Given the description of an element on the screen output the (x, y) to click on. 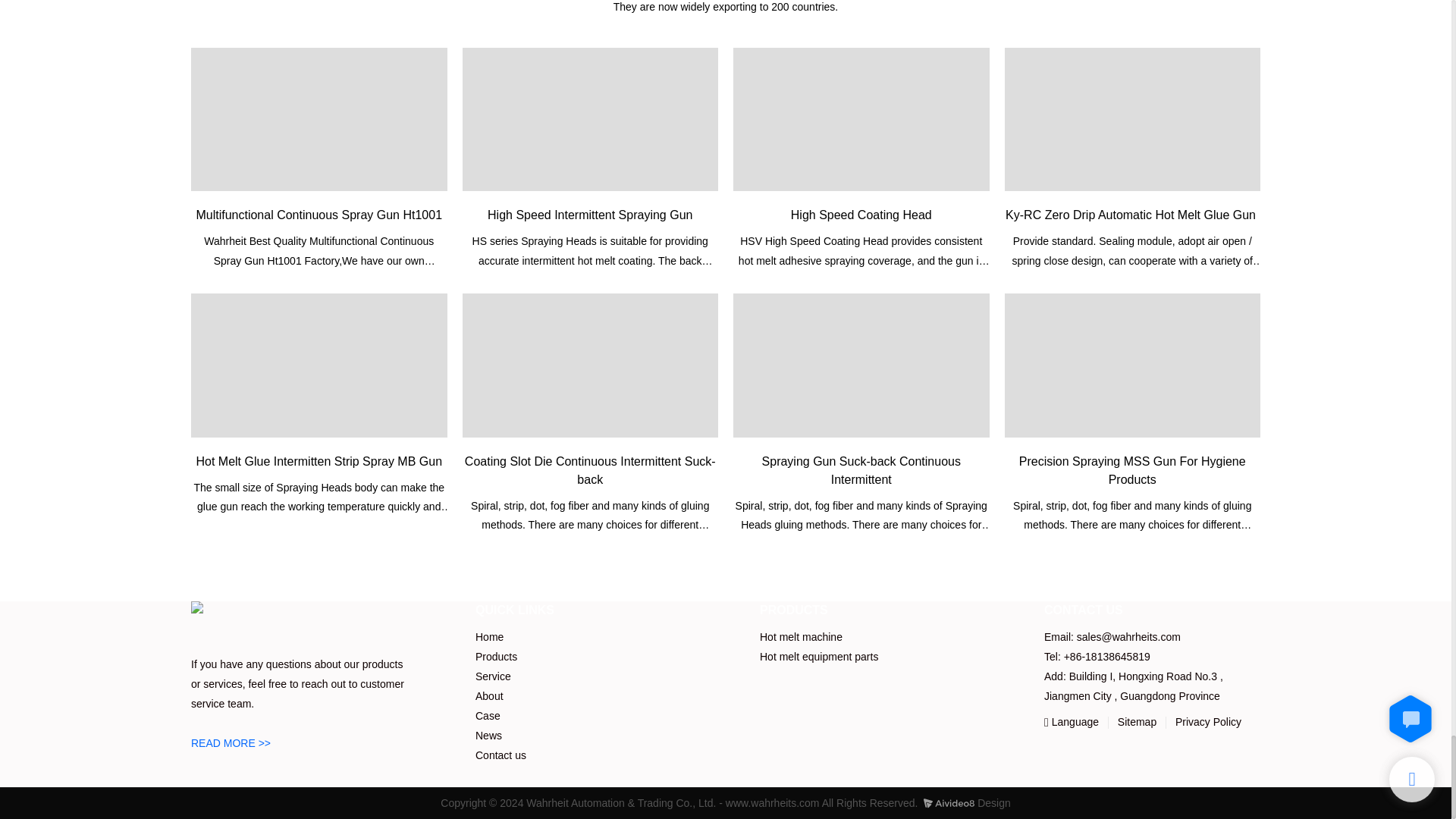
High Speed Intermittent Spraying Gun (591, 119)
Multifunctional Continuous Spray Gun Ht1001 (318, 119)
High Speed Coating Head (861, 119)
